Given the description of an element on the screen output the (x, y) to click on. 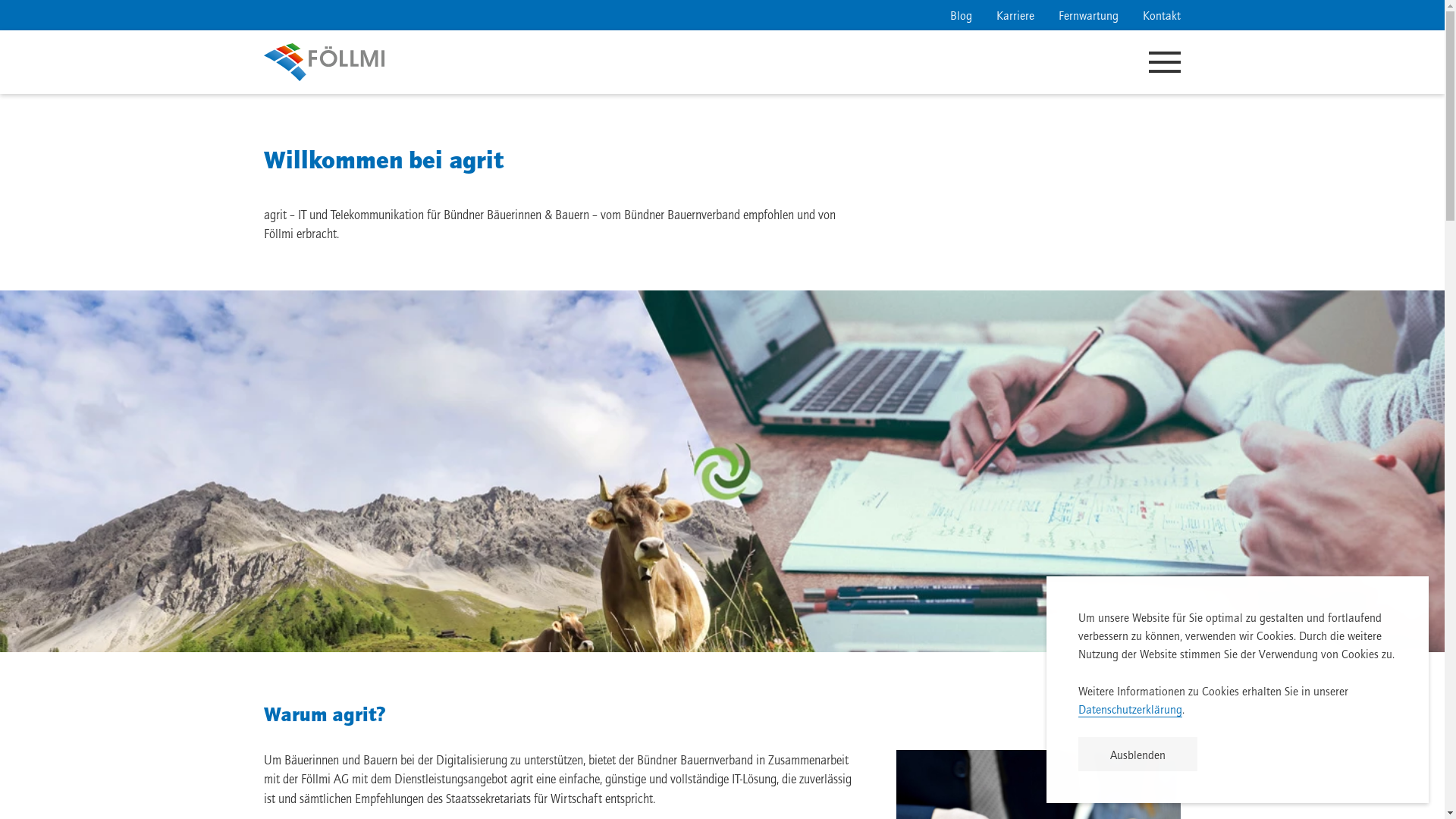
Ausblenden Element type: text (1137, 754)
Navigation einblenden/ausblenden Element type: hover (1164, 62)
Fernwartung Element type: text (1088, 15)
Karriere Element type: text (1015, 15)
Blog Element type: text (961, 15)
Kontakt Element type: text (1161, 15)
